Given the description of an element on the screen output the (x, y) to click on. 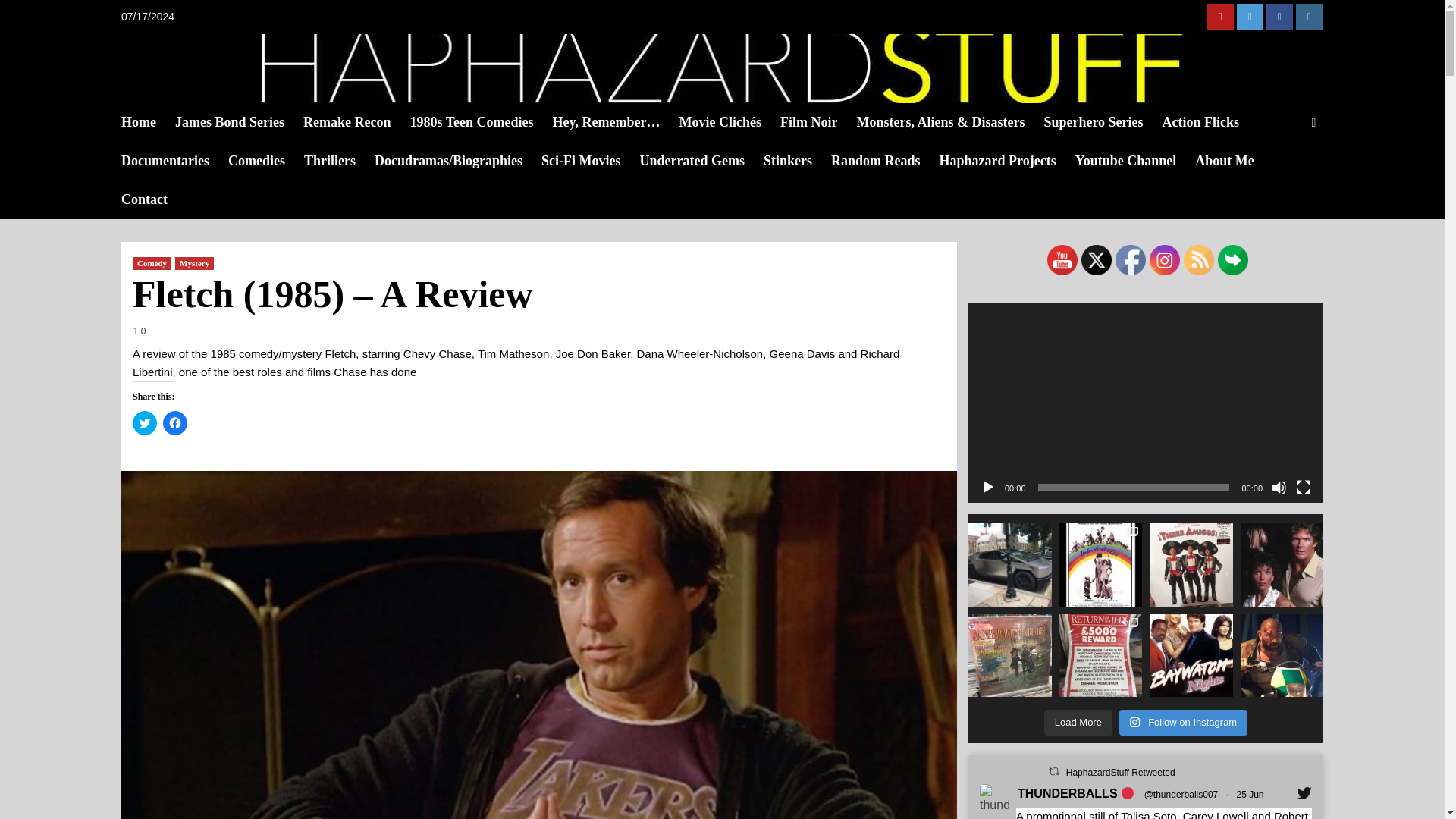
Documentaries (174, 160)
1980s Teen Comedies (480, 122)
TWITTER (1249, 17)
Underrated Gems (700, 160)
Search (1278, 168)
Mystery (194, 263)
Search (1313, 121)
YOUTUBE CHANNEL (1220, 17)
James Bond Series (238, 122)
Random Reads (885, 160)
Home (147, 122)
About Me (1233, 160)
Comedies (266, 160)
Film Noir (818, 122)
Click to share on Facebook (175, 422)
